Given the description of an element on the screen output the (x, y) to click on. 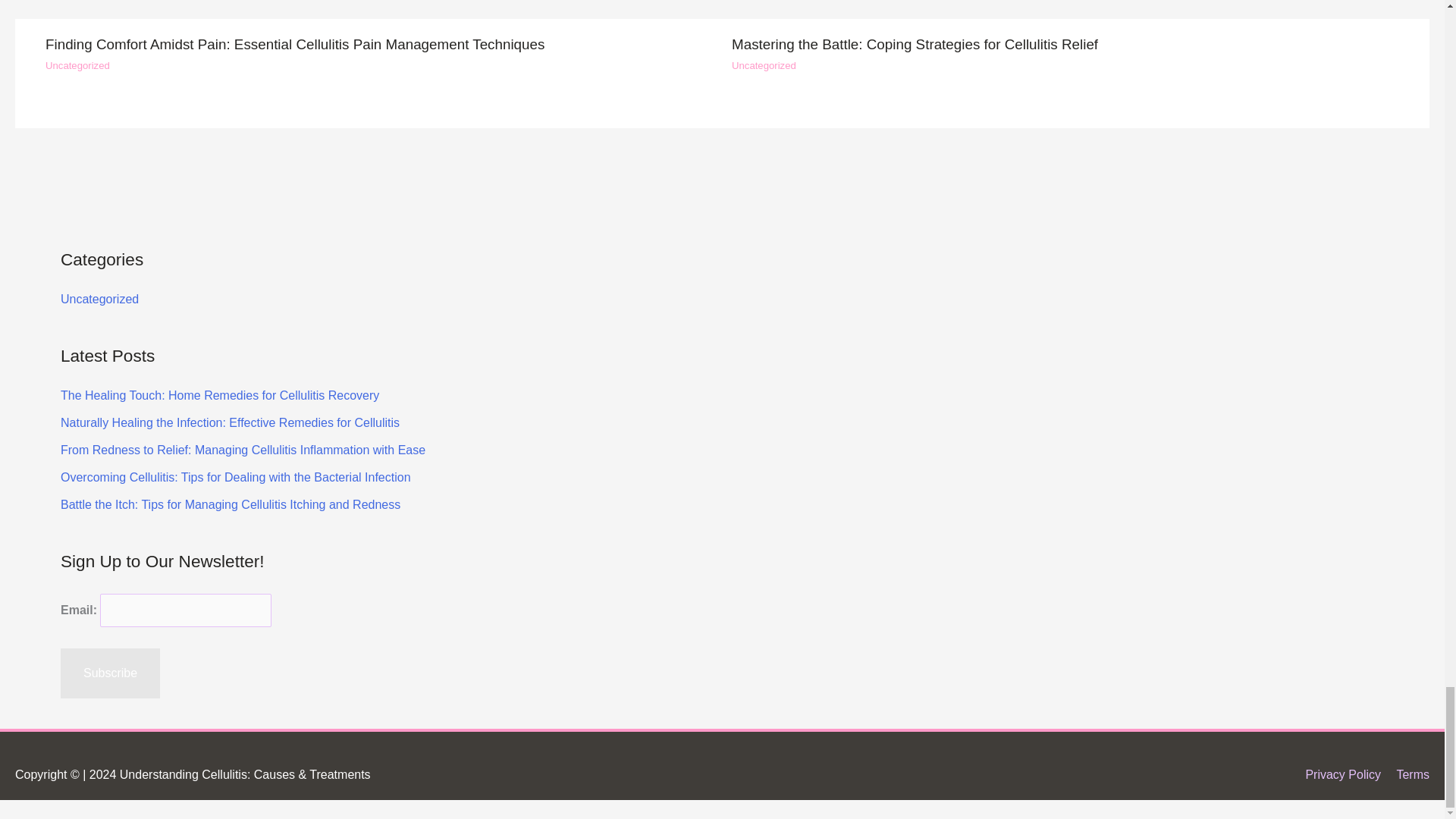
Terms (1406, 774)
Uncategorized (764, 65)
Uncategorized (77, 65)
Uncategorized (99, 298)
Subscribe (110, 673)
Privacy Policy (1336, 774)
The Healing Touch: Home Remedies for Cellulitis Recovery (1065, 12)
